Given the description of an element on the screen output the (x, y) to click on. 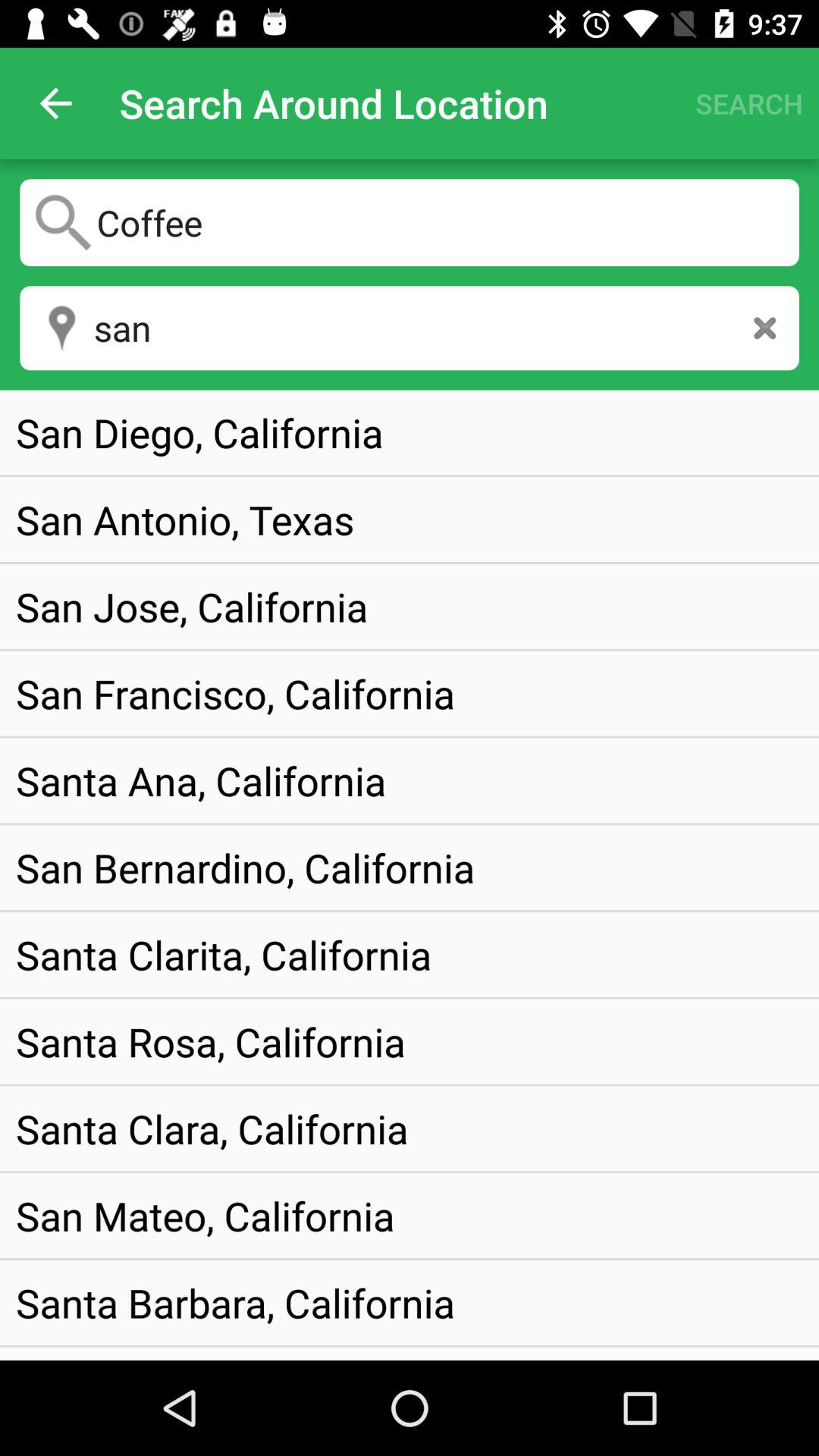
turn on icon above the coffee item (55, 103)
